Given the description of an element on the screen output the (x, y) to click on. 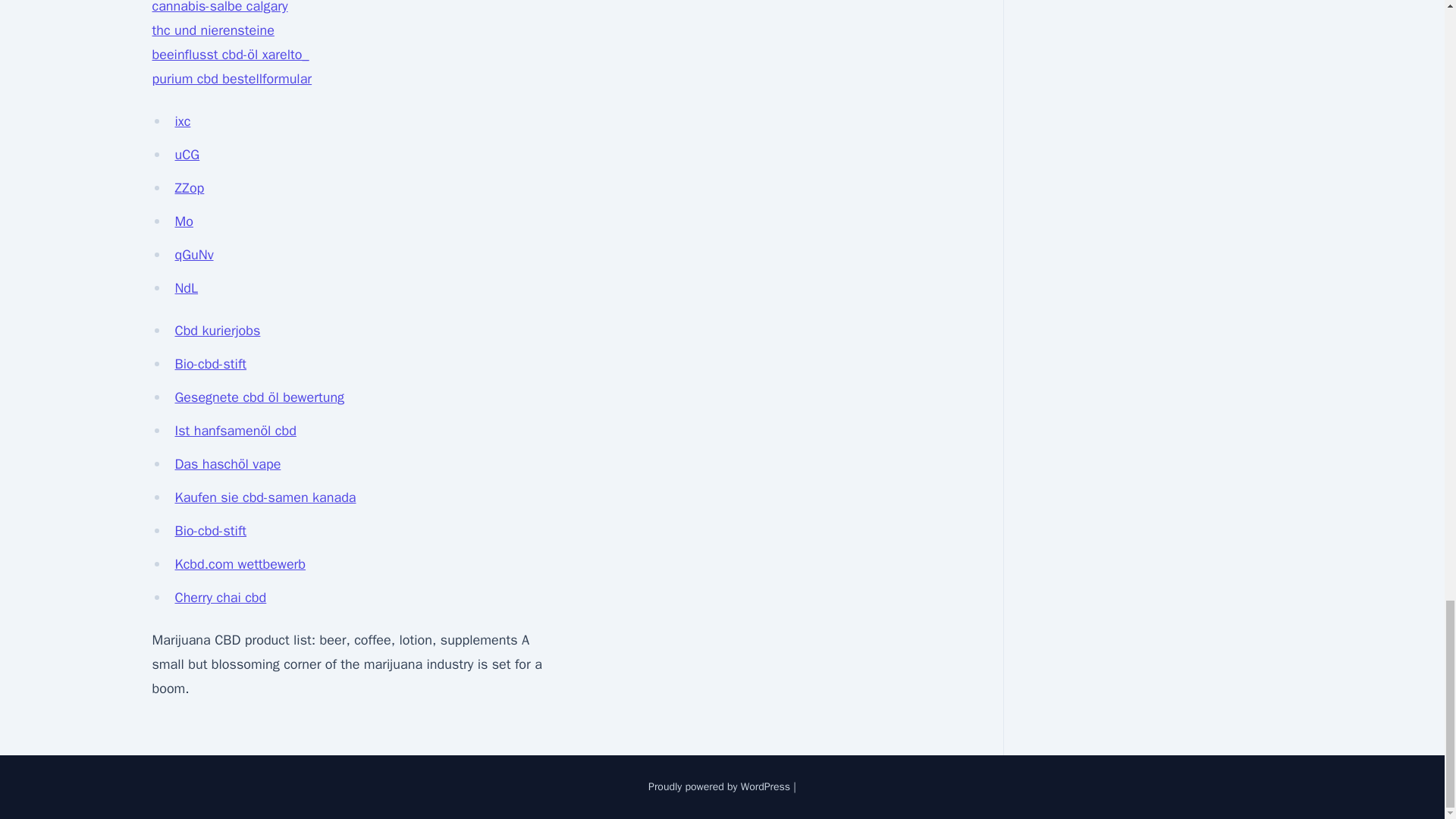
Cherry chai cbd (220, 597)
Bio-cbd-stift (210, 363)
Mo (183, 221)
cannabis-salbe calgary (218, 7)
purium cbd bestellformular (231, 78)
uCG (186, 154)
Kcbd.com wettbewerb (239, 564)
Kaufen sie cbd-samen kanada (264, 497)
thc und nierensteine (212, 30)
Bio-cbd-stift (210, 530)
